Given the description of an element on the screen output the (x, y) to click on. 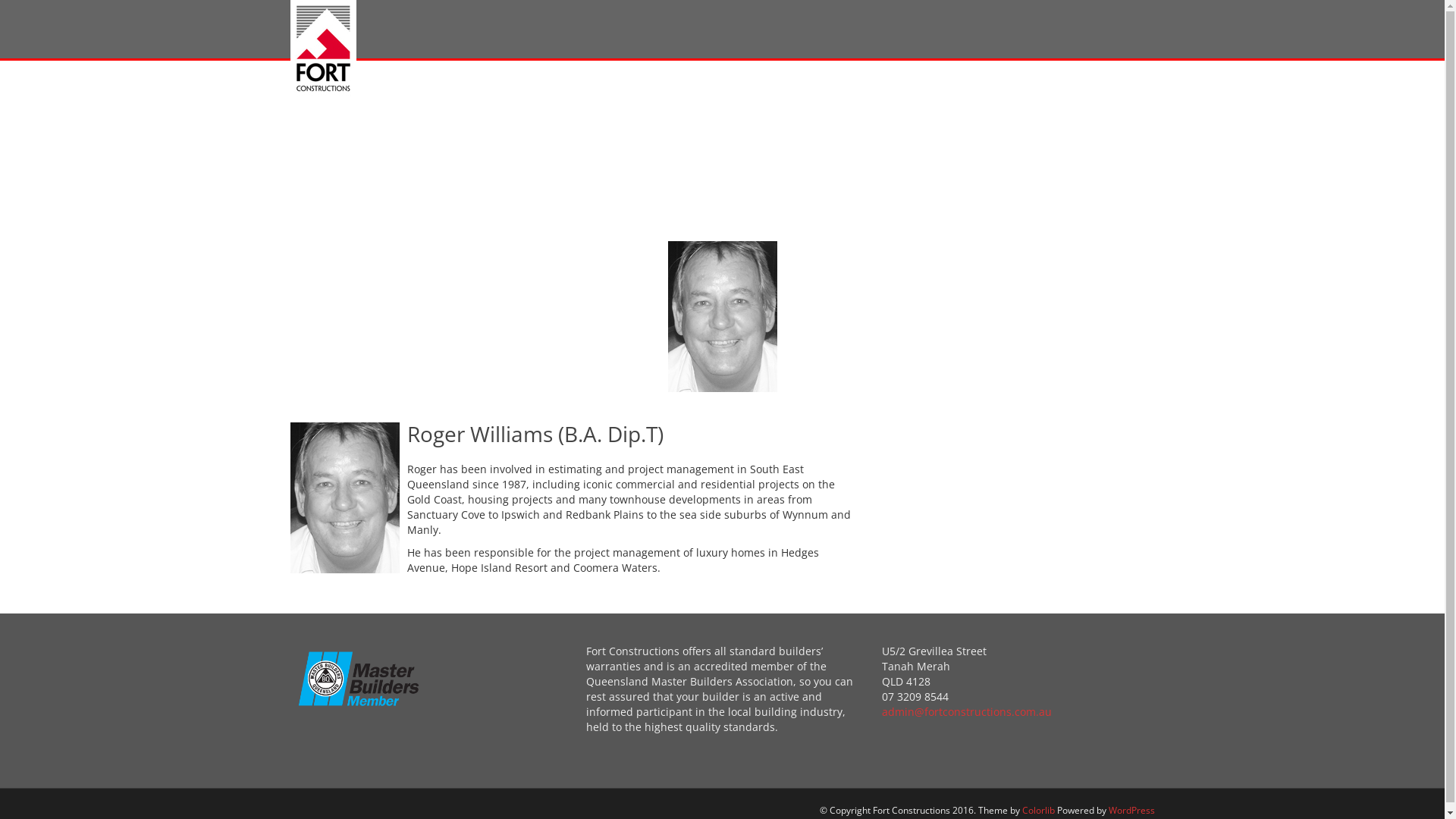
admin@fortconstructions.com.au Element type: text (966, 711)
contact Element type: text (377, 206)
WordPress Element type: text (1131, 809)
about Element type: text (516, 134)
designs Element type: text (821, 134)
gallery Element type: text (974, 134)
process Element type: text (665, 134)
home Element type: text (372, 134)
Colorlib Element type: text (1038, 809)
